Given the description of an element on the screen output the (x, y) to click on. 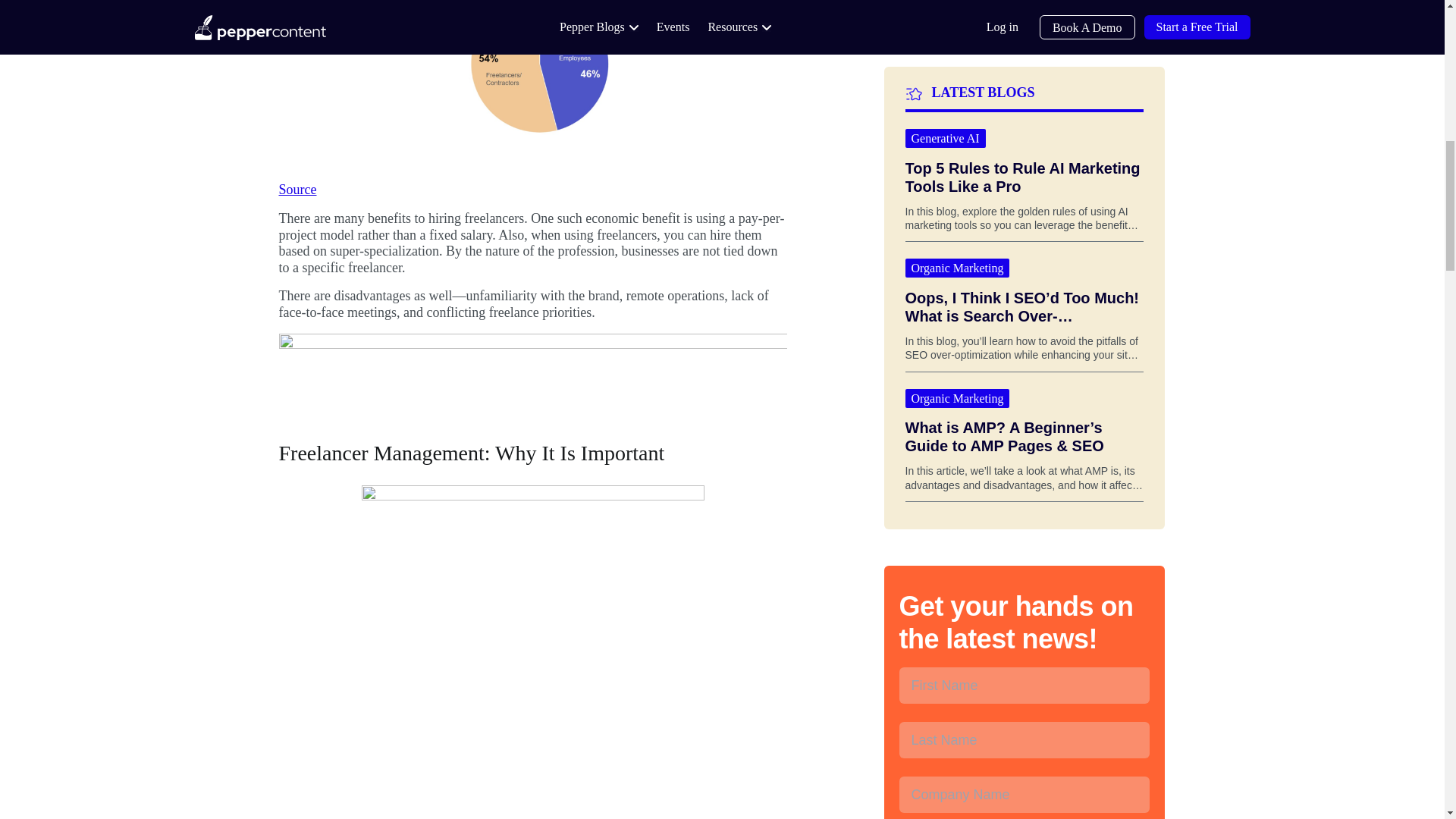
Subscribe to Newsletter (1024, 672)
Source (298, 189)
